Given the description of an element on the screen output the (x, y) to click on. 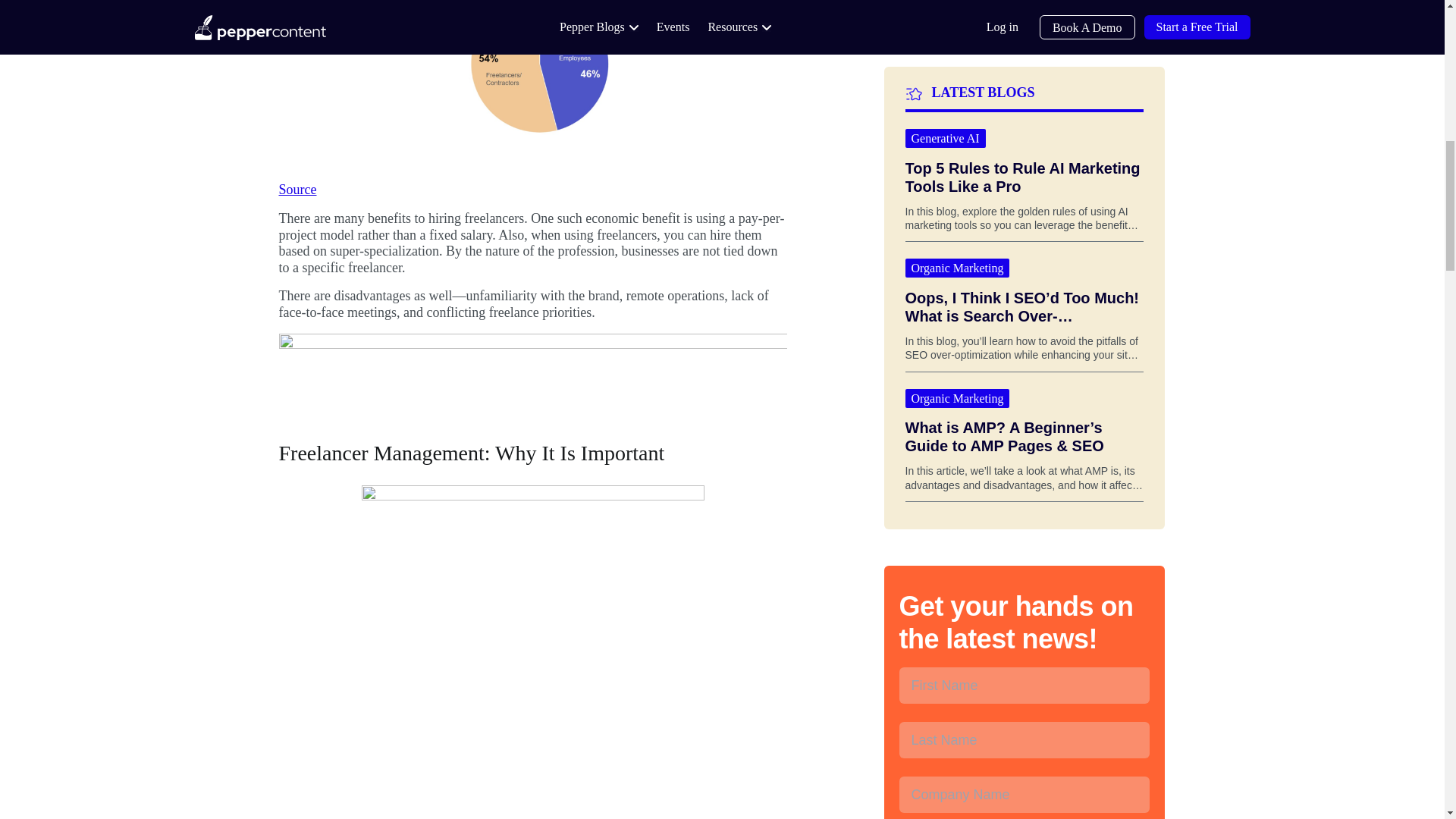
Subscribe to Newsletter (1024, 672)
Source (298, 189)
